Given the description of an element on the screen output the (x, y) to click on. 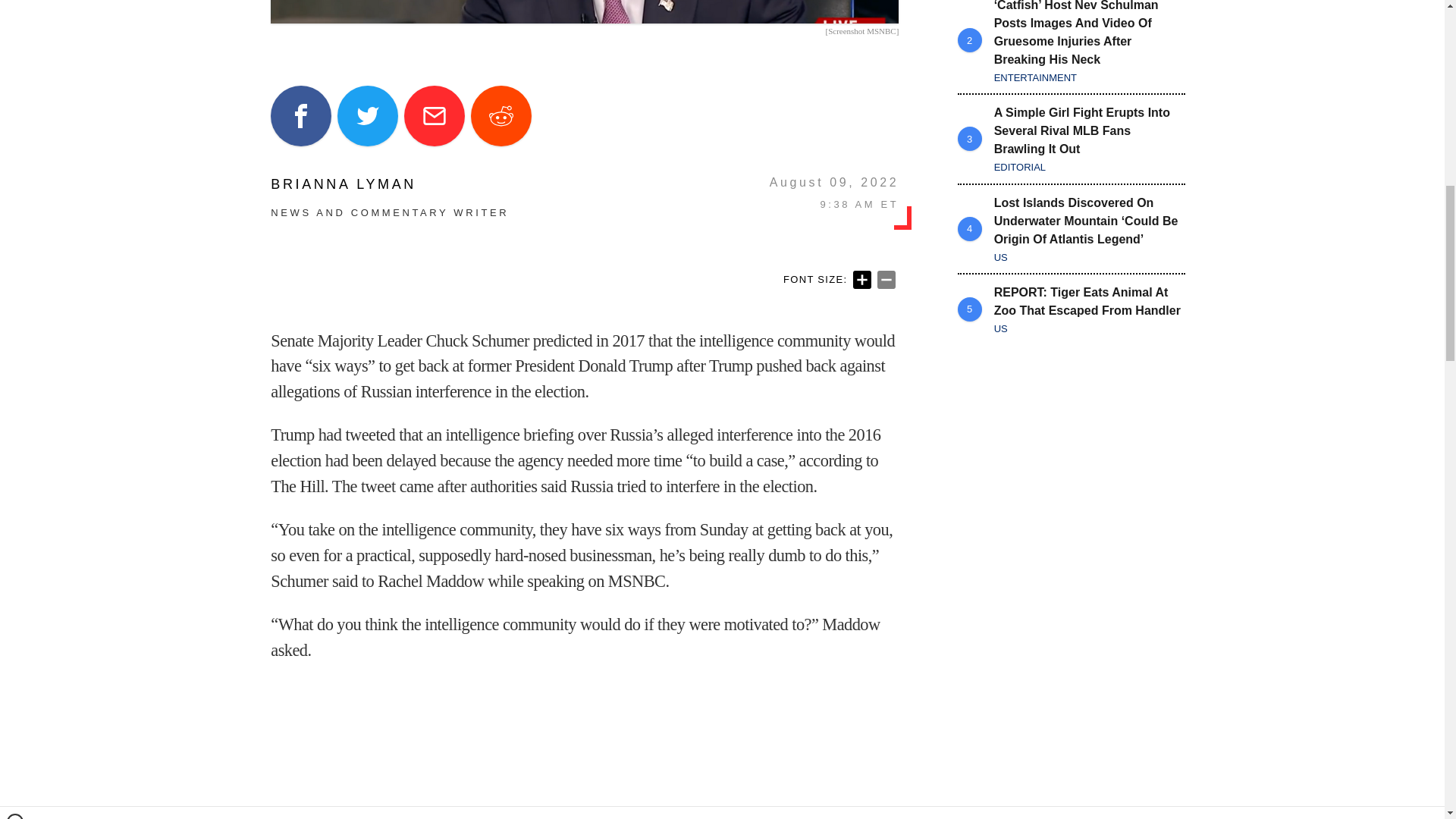
BRIANNA LYMAN (389, 184)
Close window (14, 6)
View More Articles By Brianna Lyman (389, 184)
